Given the description of an element on the screen output the (x, y) to click on. 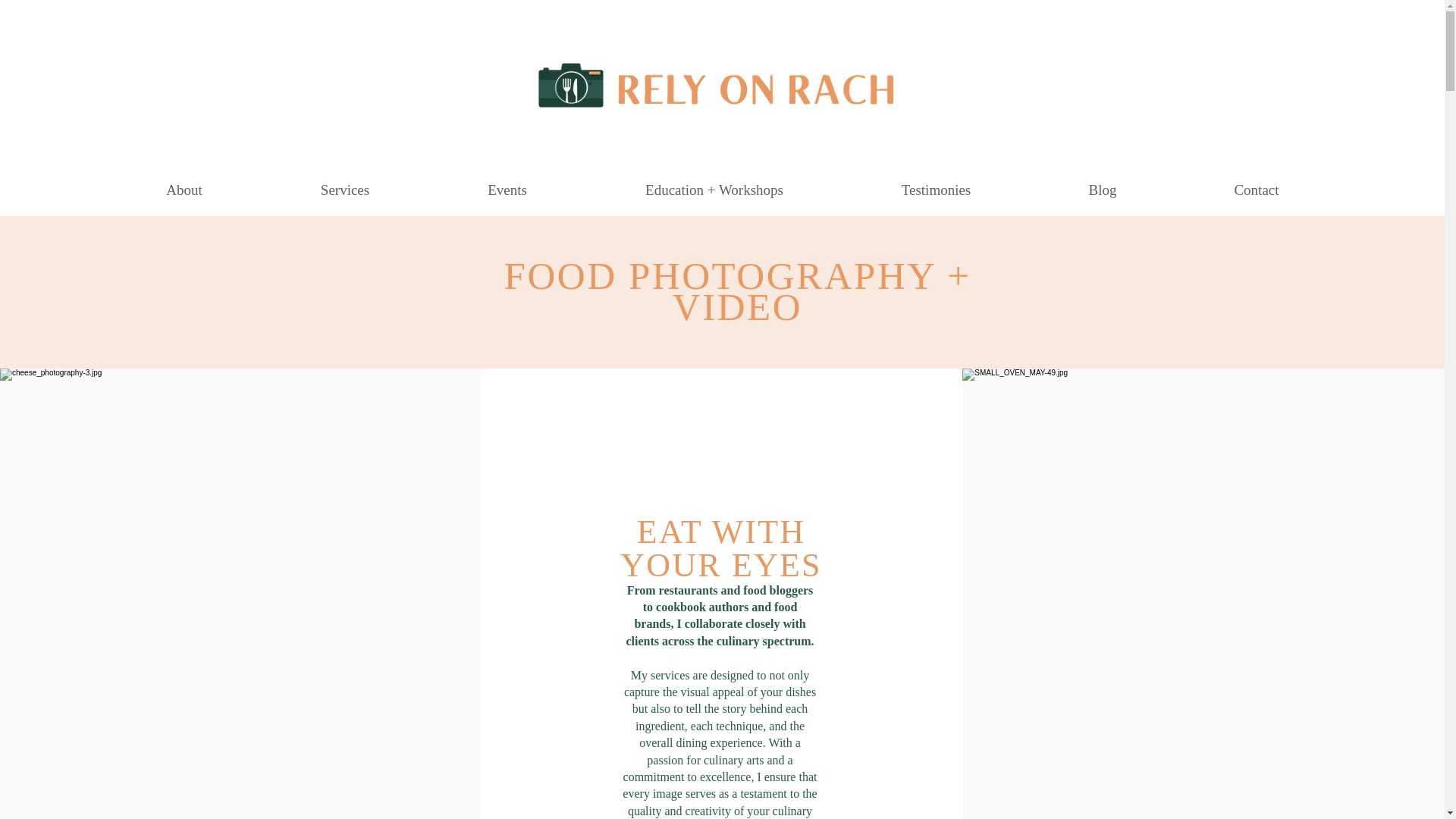
Events (507, 189)
Contact (1256, 189)
About (184, 189)
Services (345, 189)
Blog (1101, 189)
Testimonies (936, 189)
